Given the description of an element on the screen output the (x, y) to click on. 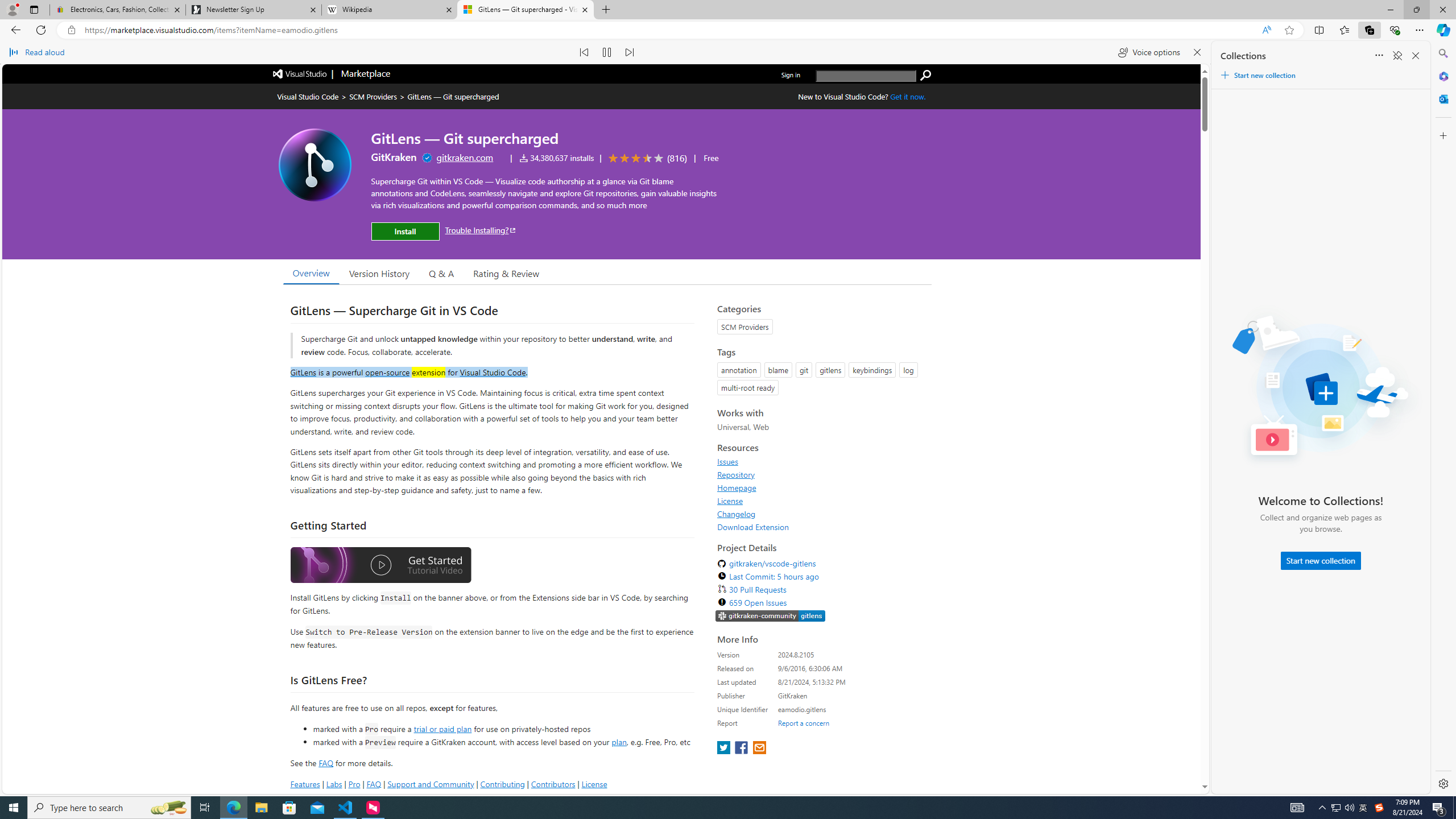
Support and Community (430, 783)
https://slack.gitkraken.com// (769, 615)
Version History (379, 272)
share extension on email (759, 748)
Visual Studio logo Marketplace logo (330, 73)
search (866, 75)
